Given the description of an element on the screen output the (x, y) to click on. 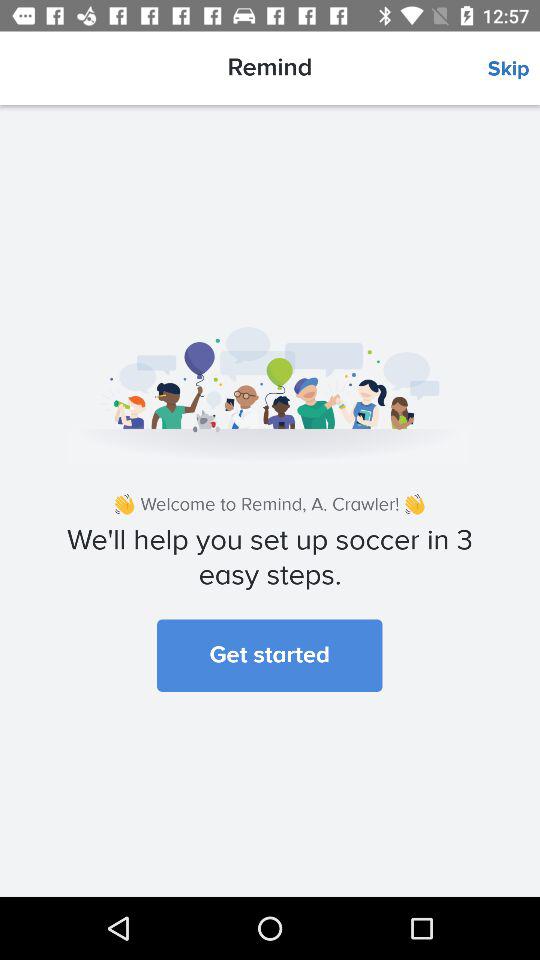
tap icon below we ll help (269, 655)
